Given the description of an element on the screen output the (x, y) to click on. 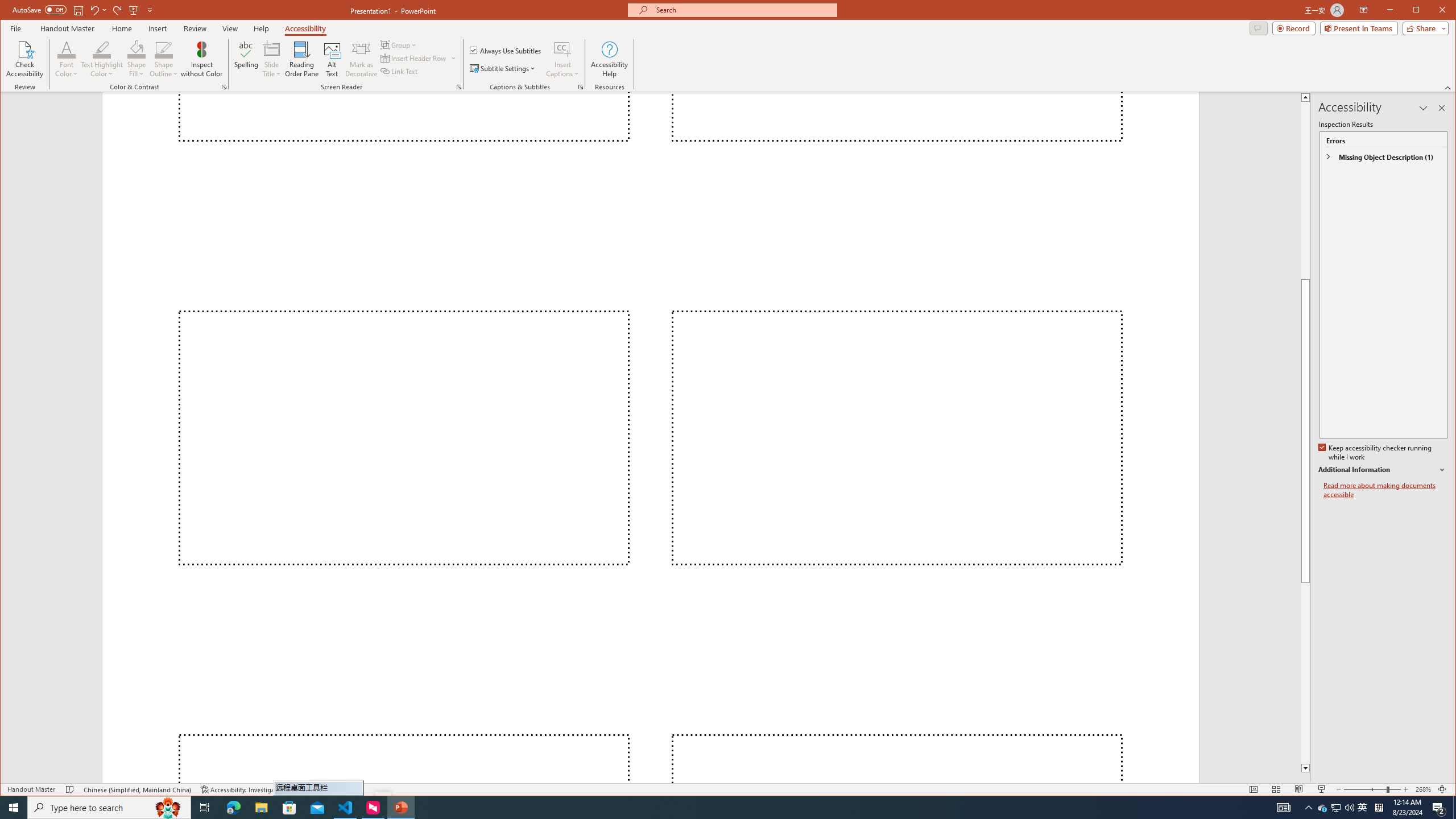
Handout Master (67, 28)
Shape Outline (163, 59)
Shape Outline Blue, Accent 1 (163, 48)
Insert Captions (562, 59)
Keep accessibility checker running while I work (1375, 452)
Visual Studio Code - 1 running window (345, 807)
